Given the description of an element on the screen output the (x, y) to click on. 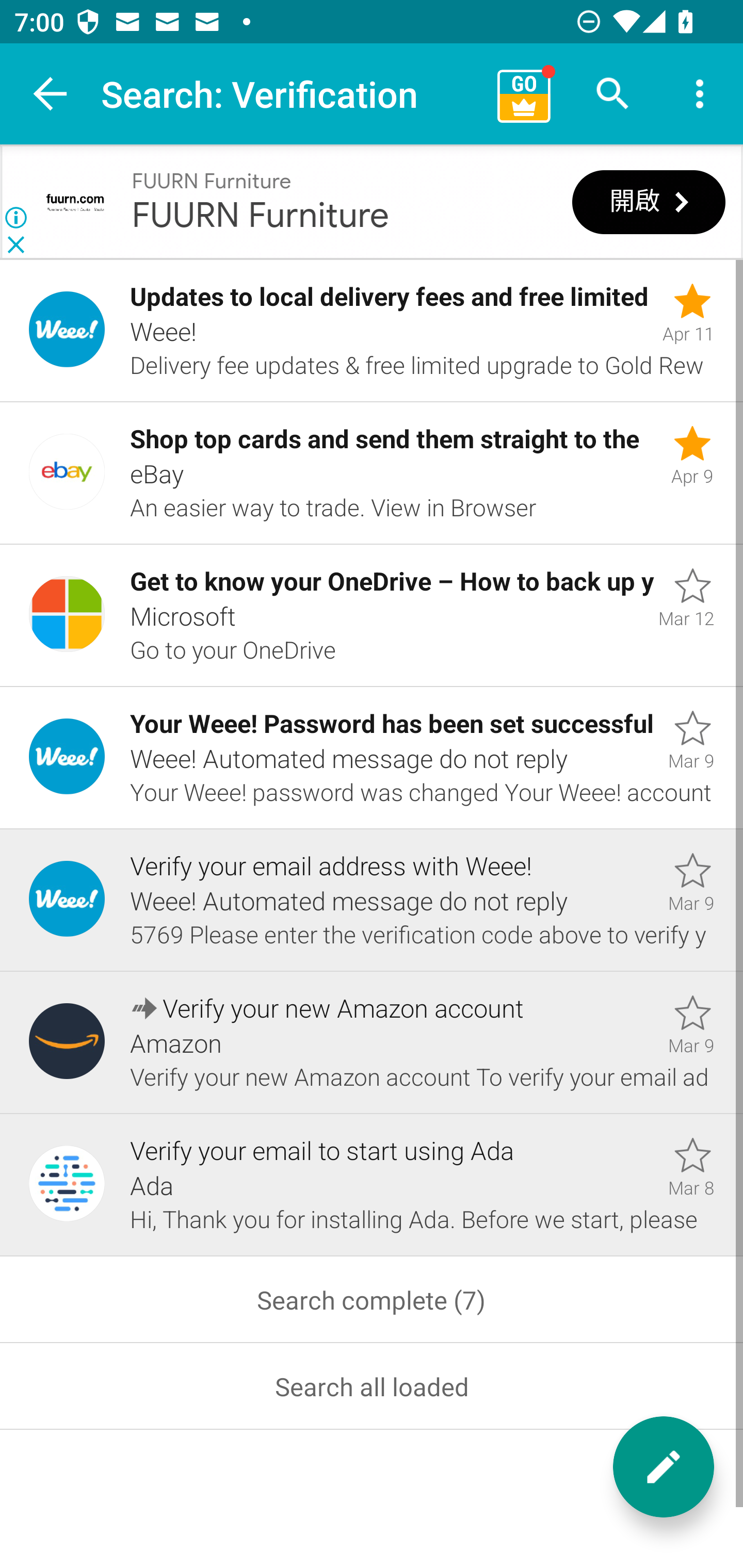
Navigate up (50, 93)
Search (612, 93)
More options (699, 93)
FUURN Furniture (74, 201)
FUURN Furniture (211, 181)
開啟 (648, 202)
FUURN Furniture (260, 215)
Search complete (7) (371, 1299)
Search all loaded (371, 1386)
New message (663, 1466)
